Given the description of an element on the screen output the (x, y) to click on. 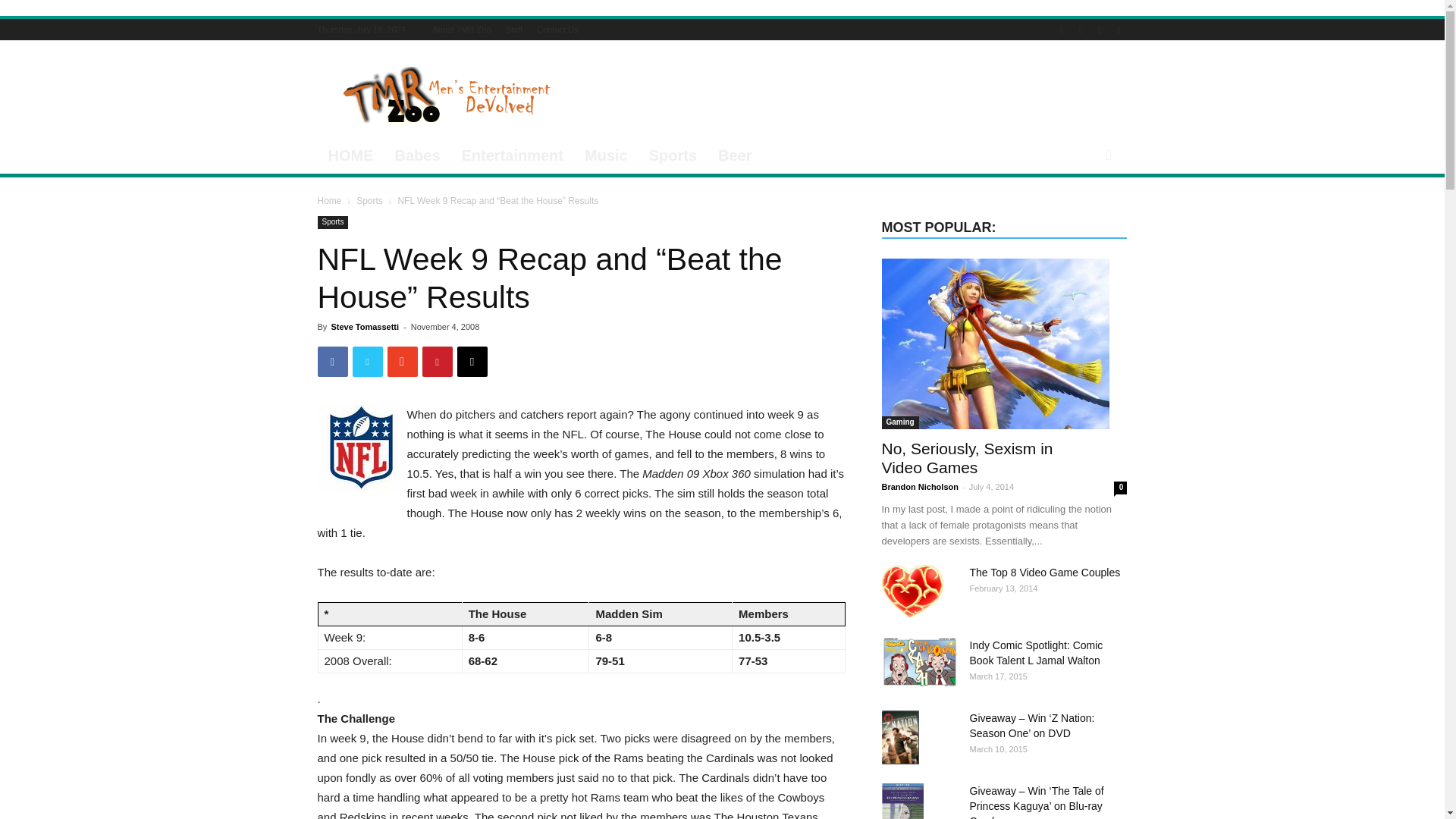
Steve Tomassetti (364, 326)
Sports (332, 222)
HOME (350, 155)
Sports (673, 155)
Contact Us (557, 29)
About TMR Zoo (461, 29)
Sports (369, 200)
Contact Us (557, 29)
Search (1083, 215)
Twitter (1117, 29)
Babes (416, 155)
TMR Zoo Staff (513, 29)
Home (328, 200)
Entertainment (512, 155)
Facebook (1061, 29)
